Given the description of an element on the screen output the (x, y) to click on. 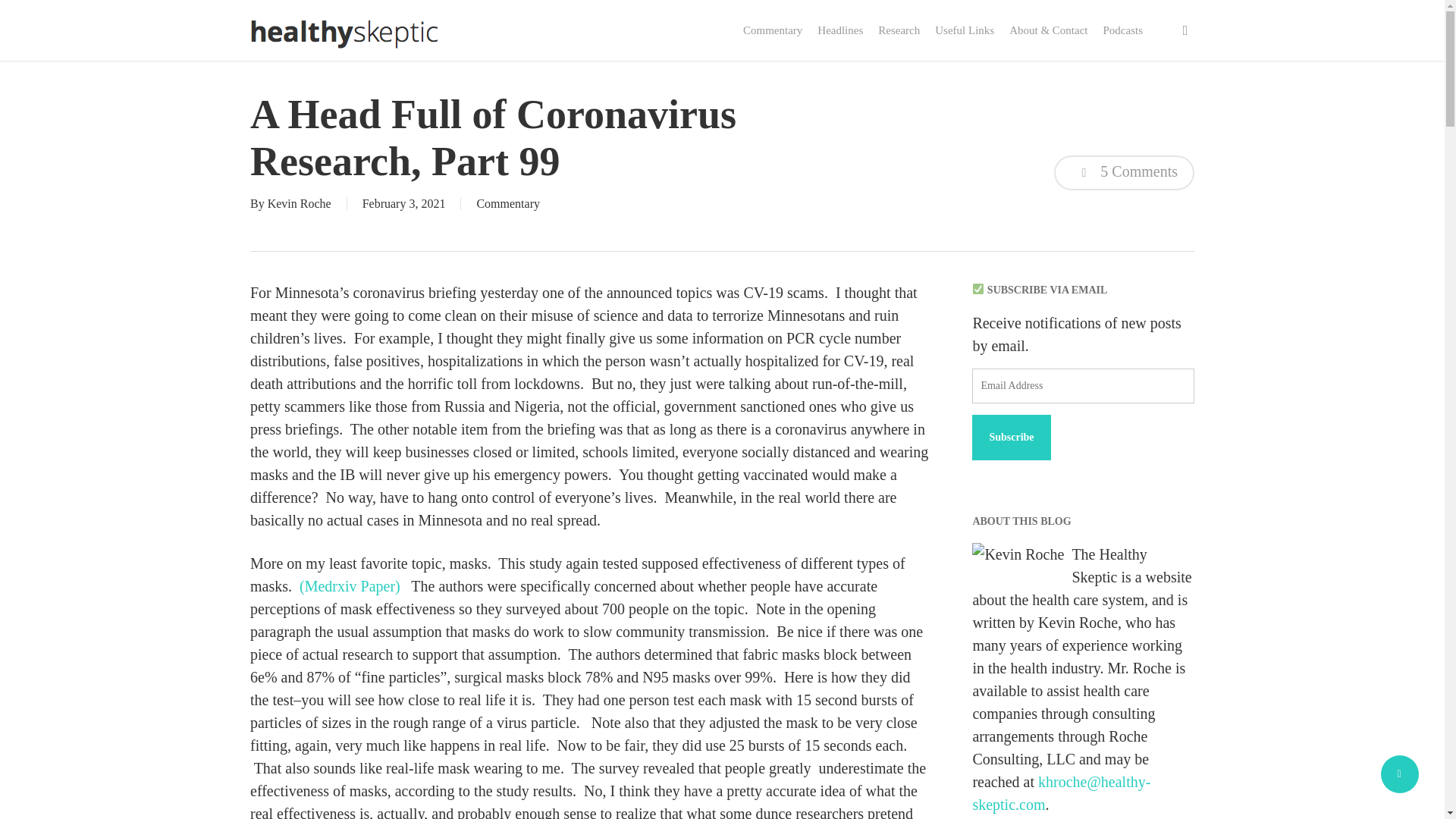
Kevin Roche (299, 203)
Useful Links (964, 30)
Subscribe (1010, 437)
Podcasts (1122, 30)
Commentary (508, 203)
Posts by Kevin Roche (299, 203)
Research (898, 30)
Headlines (839, 30)
5 Comments (1123, 172)
search (1184, 29)
Commentary (772, 30)
